Given the description of an element on the screen output the (x, y) to click on. 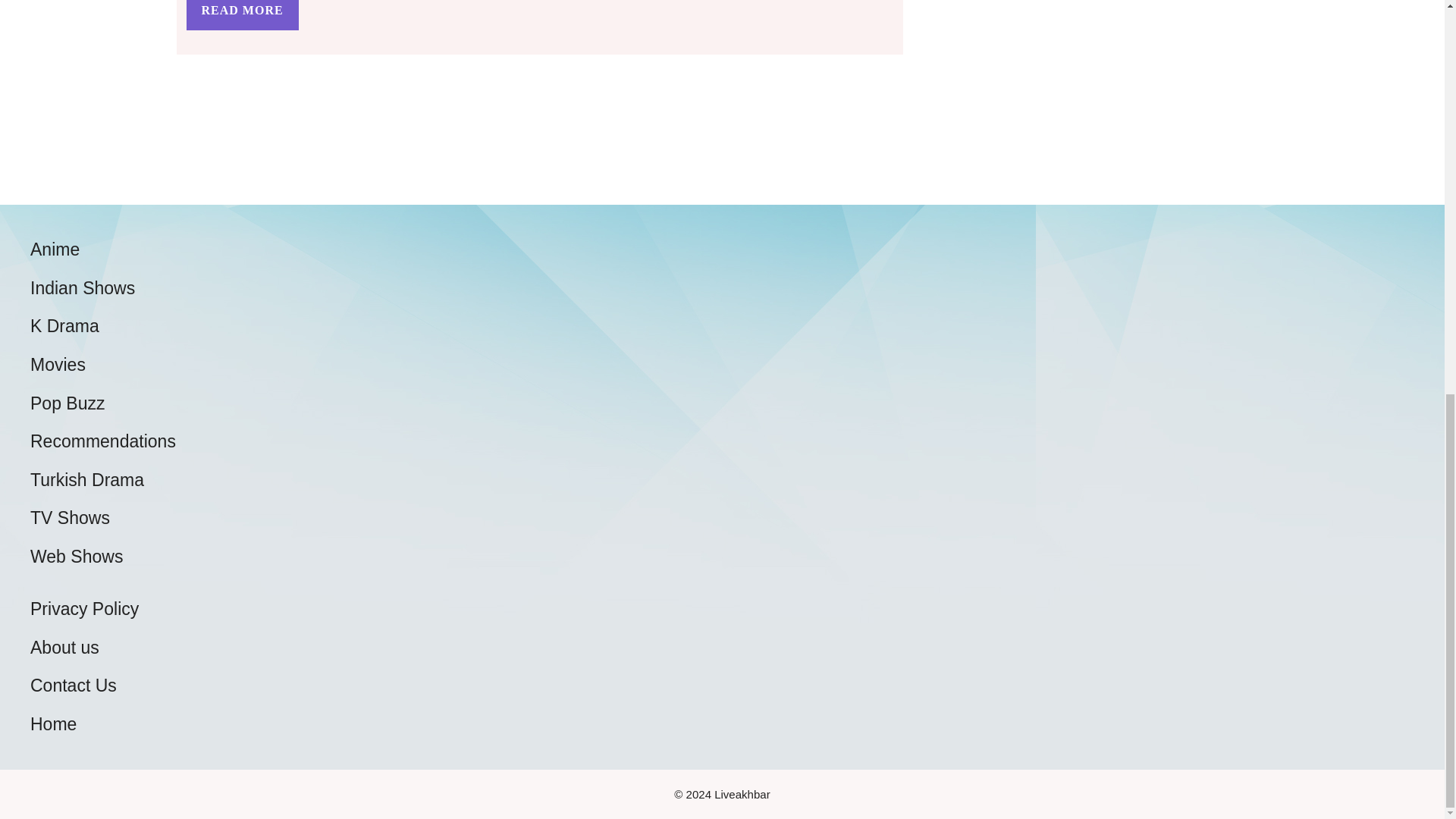
About us (64, 647)
Indian Shows (82, 288)
Contact Us (73, 685)
Privacy Policy (84, 608)
Pop Buzz (67, 403)
Recommendations (103, 441)
K Drama (64, 325)
Home (53, 723)
READ MORE (242, 15)
Anime (55, 249)
The Woman In The Window Release Date Finally Announced! (242, 15)
Movies (57, 364)
Web Shows (76, 556)
TV Shows (70, 517)
Turkish Drama (87, 479)
